Given the description of an element on the screen output the (x, y) to click on. 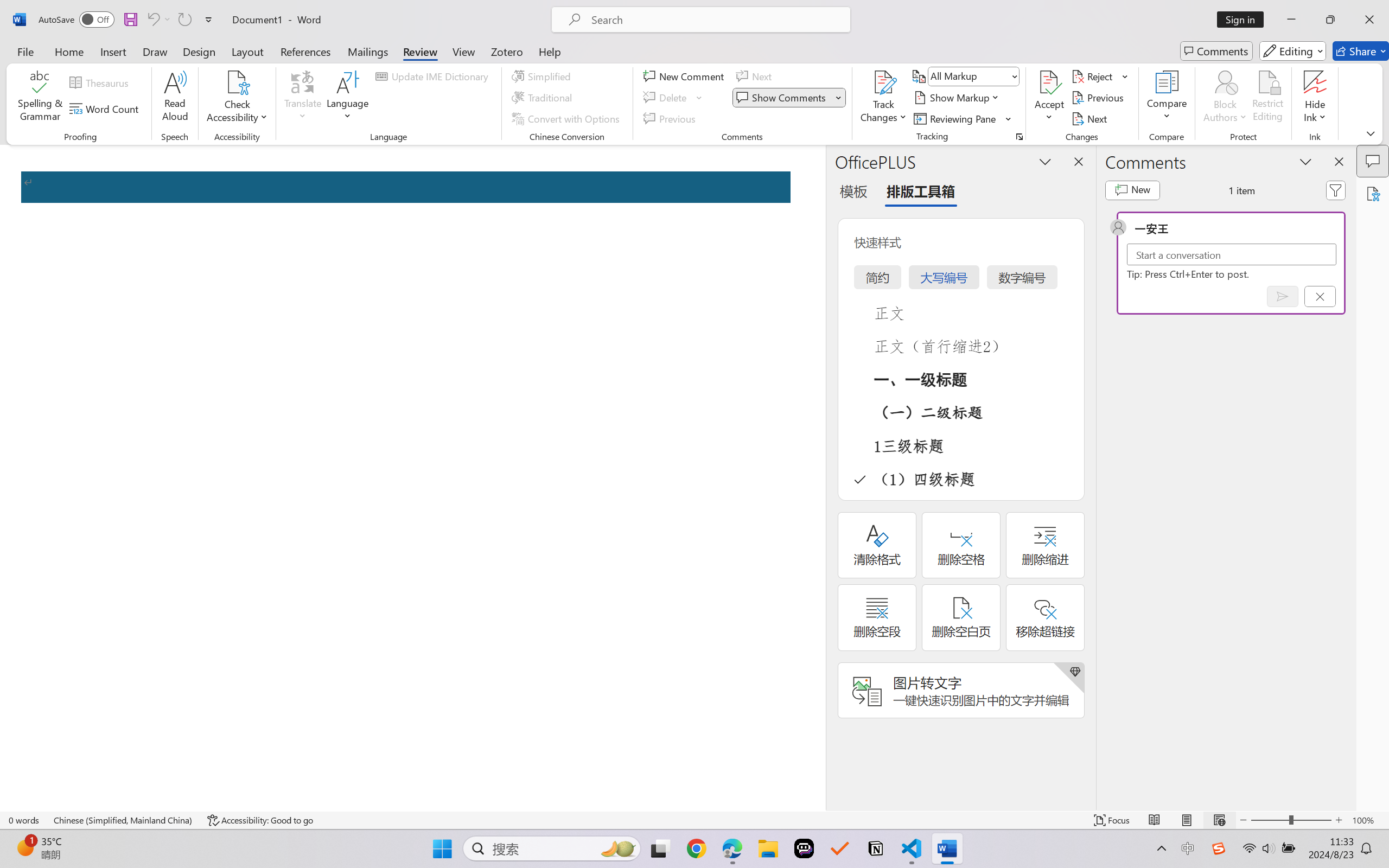
Compare (1166, 97)
Thesaurus... (101, 82)
Reject and Move to Next (1093, 75)
Track Changes (883, 97)
Simplified (542, 75)
Reviewing Pane (962, 118)
